Given the description of an element on the screen output the (x, y) to click on. 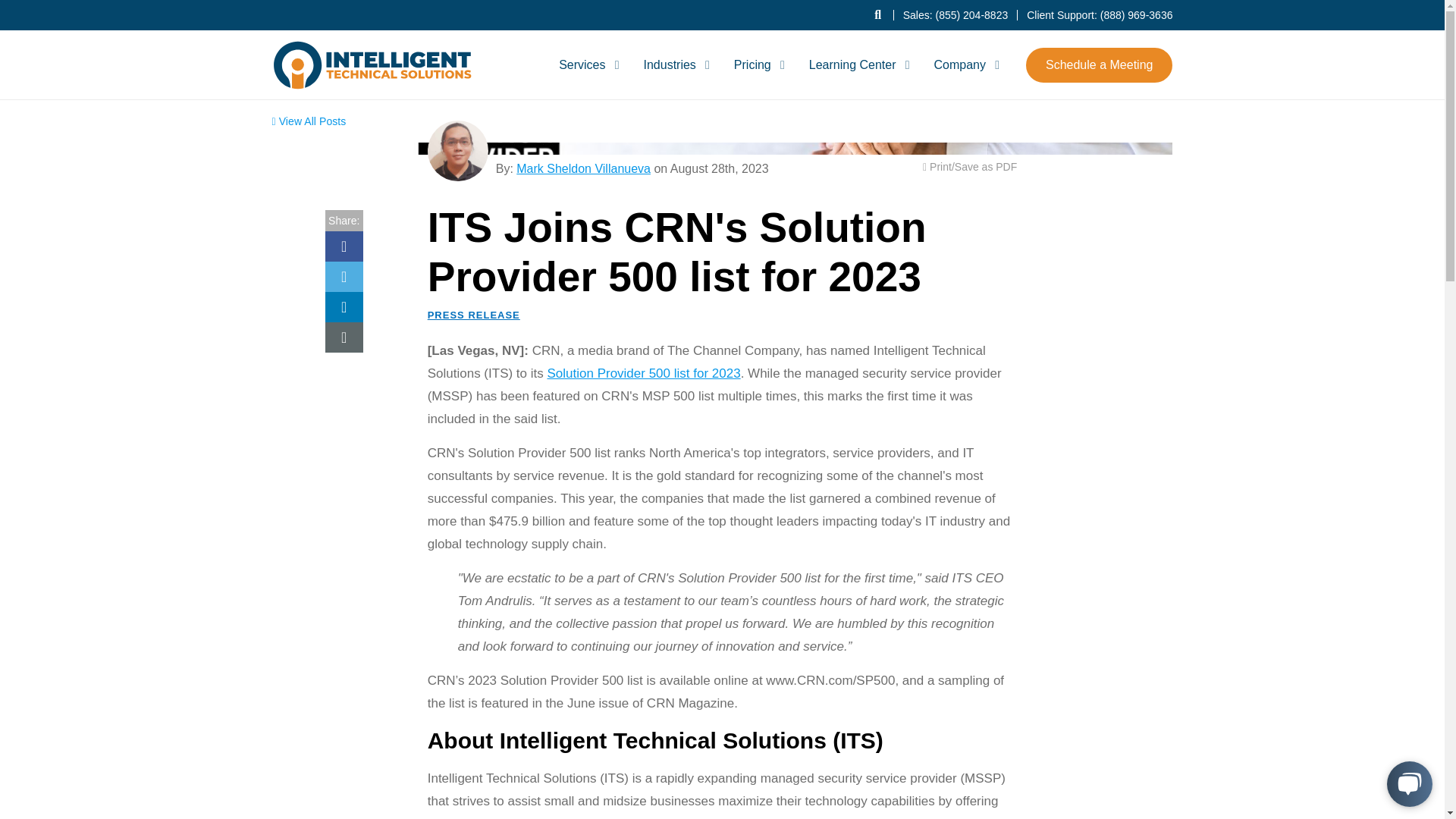
Share on Facebook (343, 245)
Share: (362, 253)
Mark Sheldon Villanueva (457, 150)
Share on Twitter (343, 276)
Share on Linkedin (343, 306)
Share via Email (343, 337)
Company (963, 64)
Services (586, 64)
Learning Center (856, 64)
Pricing (757, 64)
Industries (673, 64)
